Given the description of an element on the screen output the (x, y) to click on. 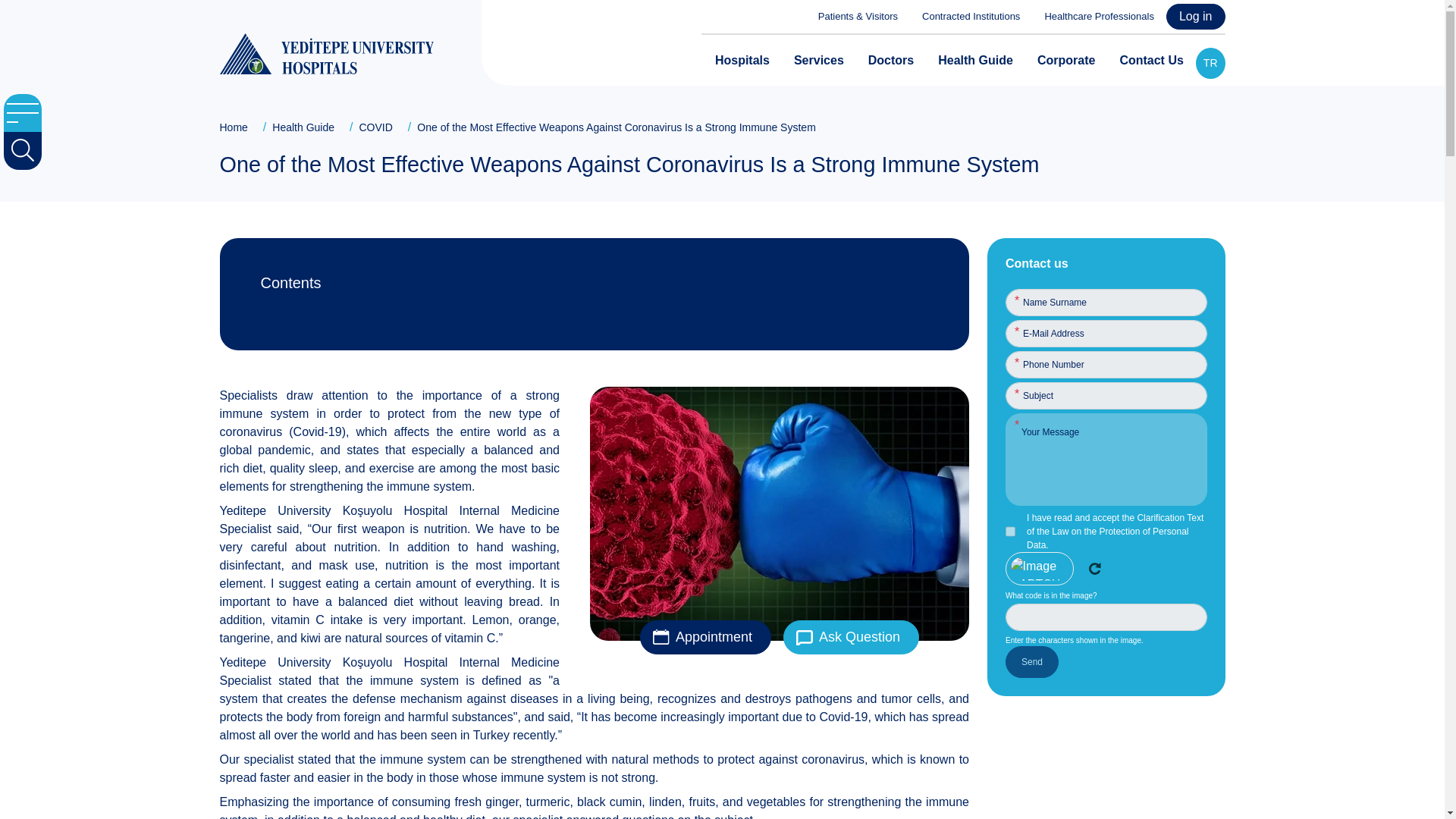
Corporate (1065, 60)
Contracted Institutions (965, 16)
How do we know whether our immune system is strong? (596, 321)
To strengthen the immune system, (596, 558)
Services (818, 60)
How do we know whether our immune system is strong? (596, 321)
Send (1032, 662)
Contact Us (1150, 60)
Health Guide (975, 60)
Doctors (891, 60)
Log in (1195, 16)
